Given the description of an element on the screen output the (x, y) to click on. 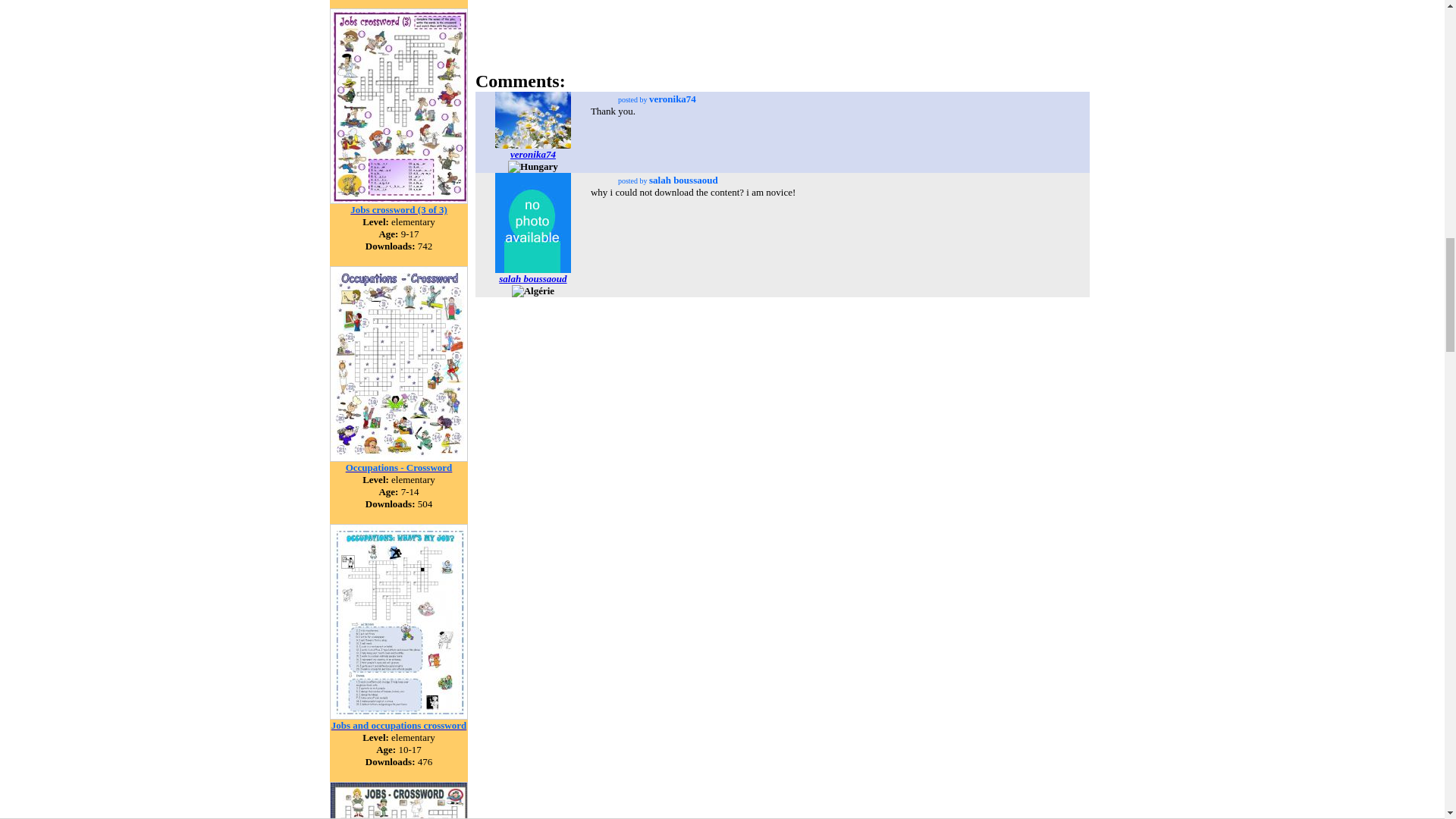
Occupations - Crossword (399, 466)
Jobs and occupations crossword (399, 724)
